Given the description of an element on the screen output the (x, y) to click on. 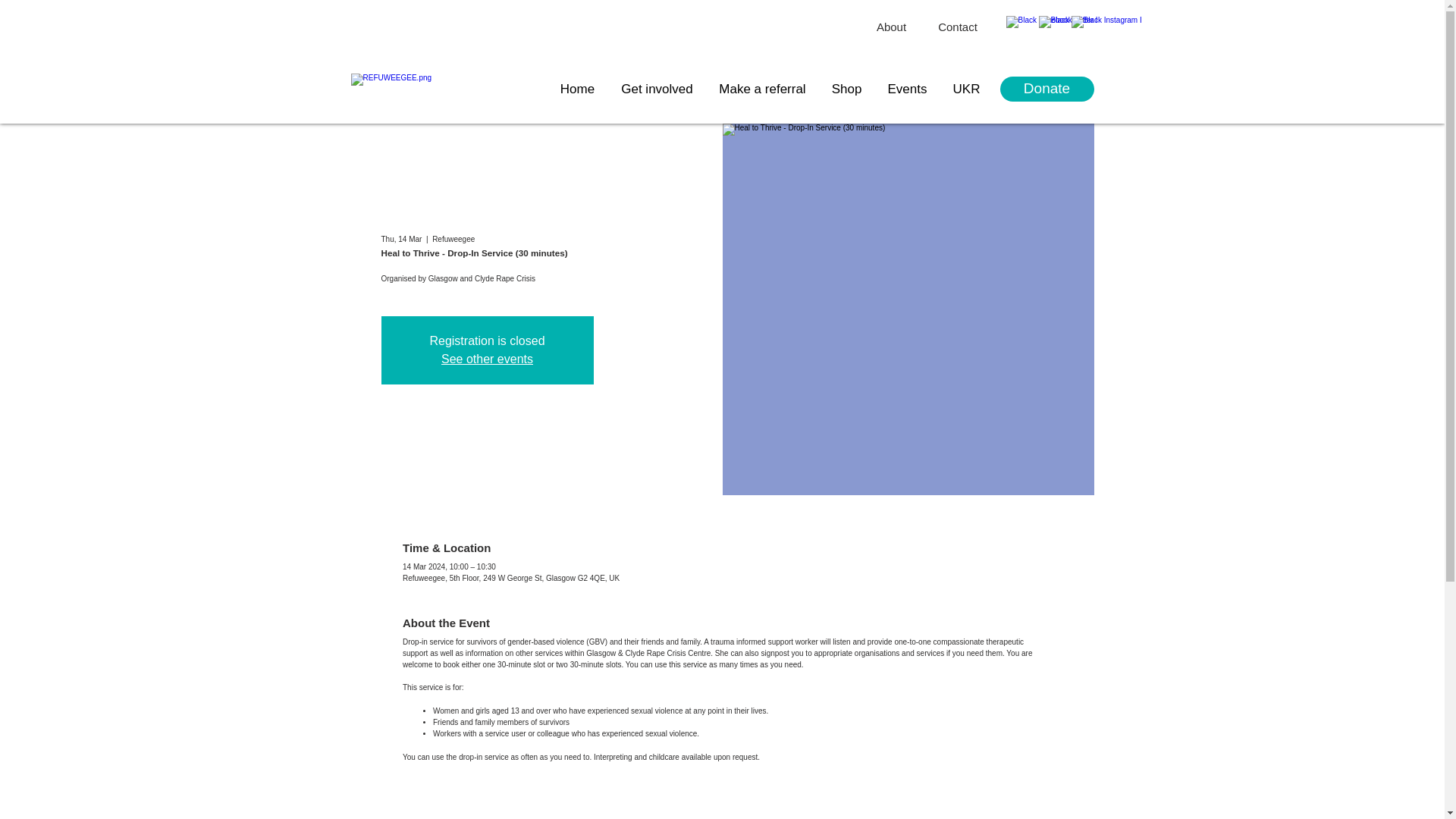
About (890, 26)
Get involved (657, 88)
Events (907, 88)
Make a referral (762, 88)
Home (577, 88)
UKR (966, 88)
Shop (846, 88)
Donate (1045, 88)
Contact (956, 26)
See other events (486, 358)
